Given the description of an element on the screen output the (x, y) to click on. 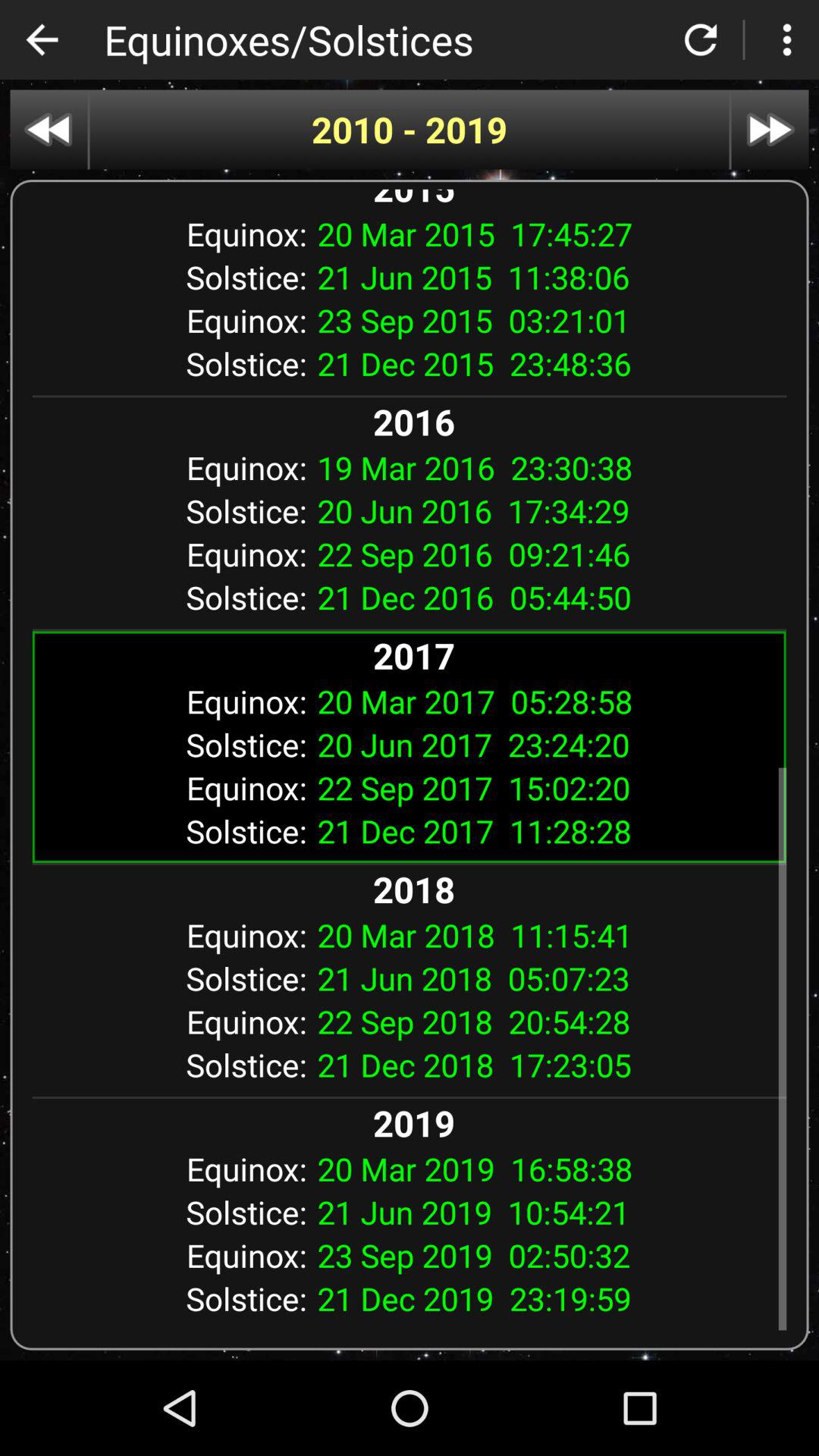
choose 19 mar 2016 app (546, 467)
